Given the description of an element on the screen output the (x, y) to click on. 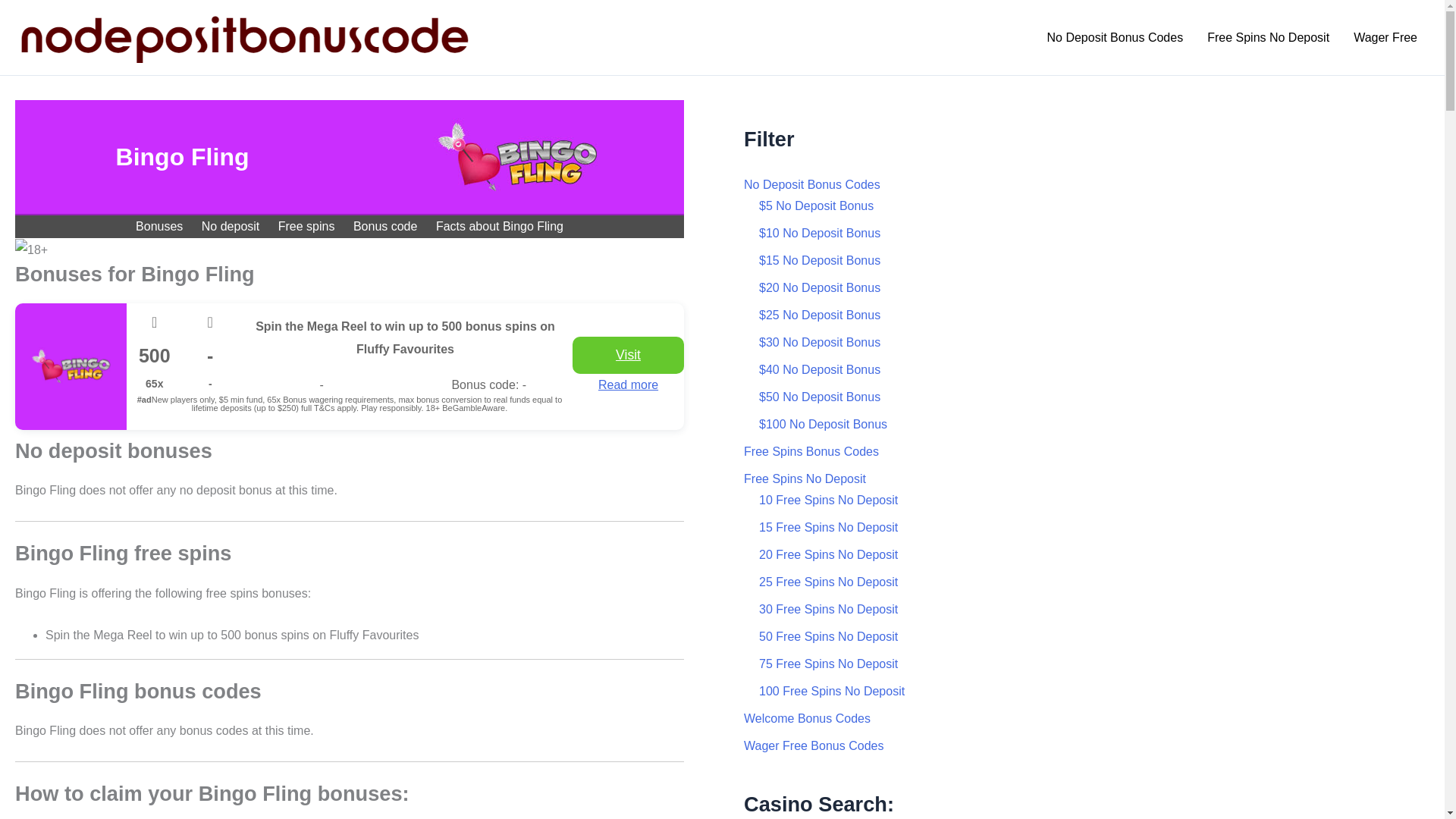
Free Spins No Deposit (1267, 37)
Wager Free (1384, 37)
No Deposit Bonus Codes (1114, 37)
